Given the description of an element on the screen output the (x, y) to click on. 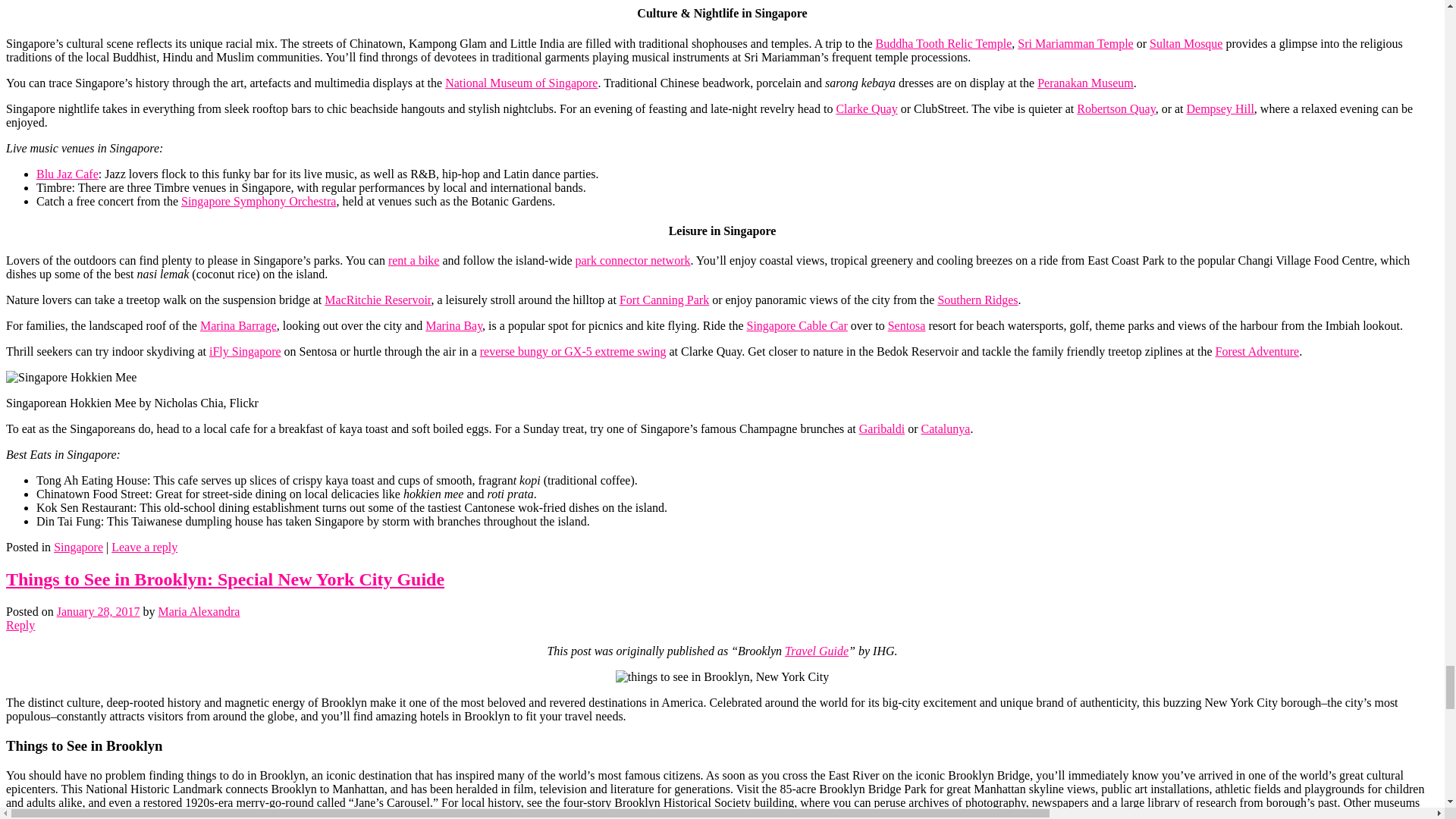
10:56 PM (97, 611)
View all posts by Maria Alexandra (198, 611)
